Given the description of an element on the screen output the (x, y) to click on. 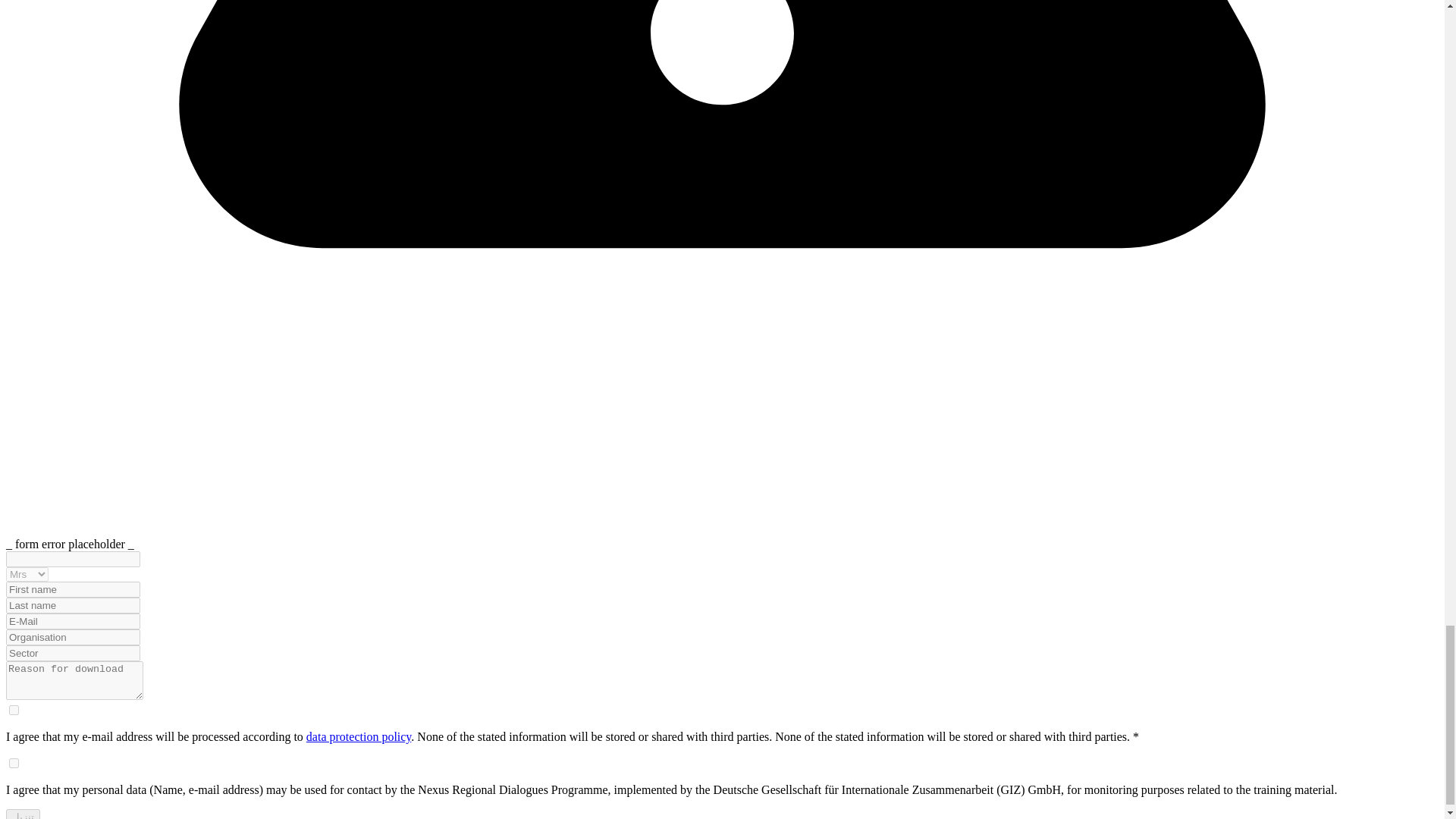
Yes (13, 709)
Yes (13, 763)
